Given the description of an element on the screen output the (x, y) to click on. 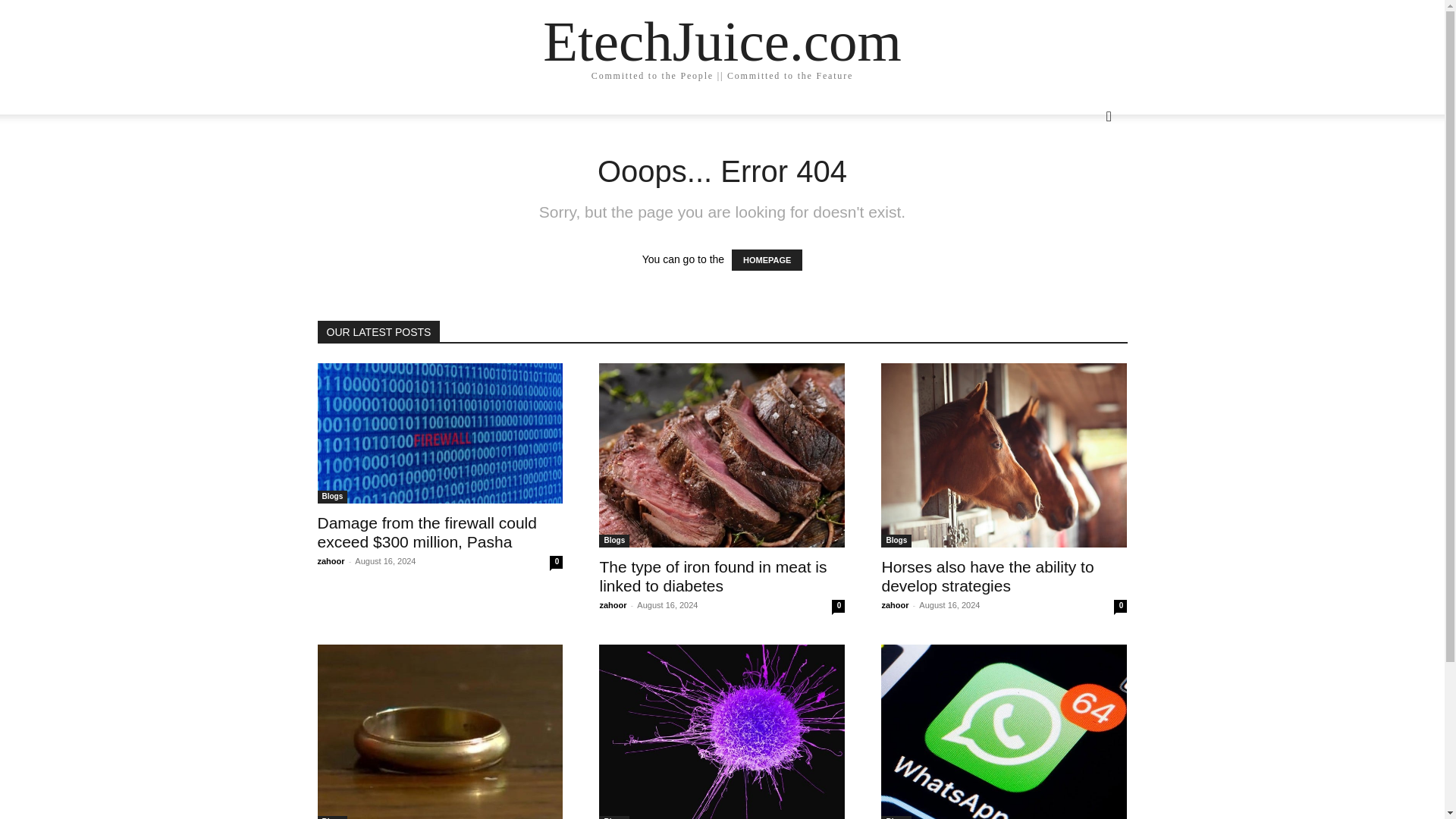
0 (837, 605)
The type of iron found in meat is linked to diabetes (721, 455)
zahoor (612, 604)
Search (1085, 177)
Blogs (613, 540)
Blogs (895, 540)
WhatsApp working on voice chat mode feature for AI chatbot (1003, 731)
The type of iron found in meat is linked to diabetes (712, 575)
EtechJuice.com (722, 41)
Blogs (613, 817)
